Given the description of an element on the screen output the (x, y) to click on. 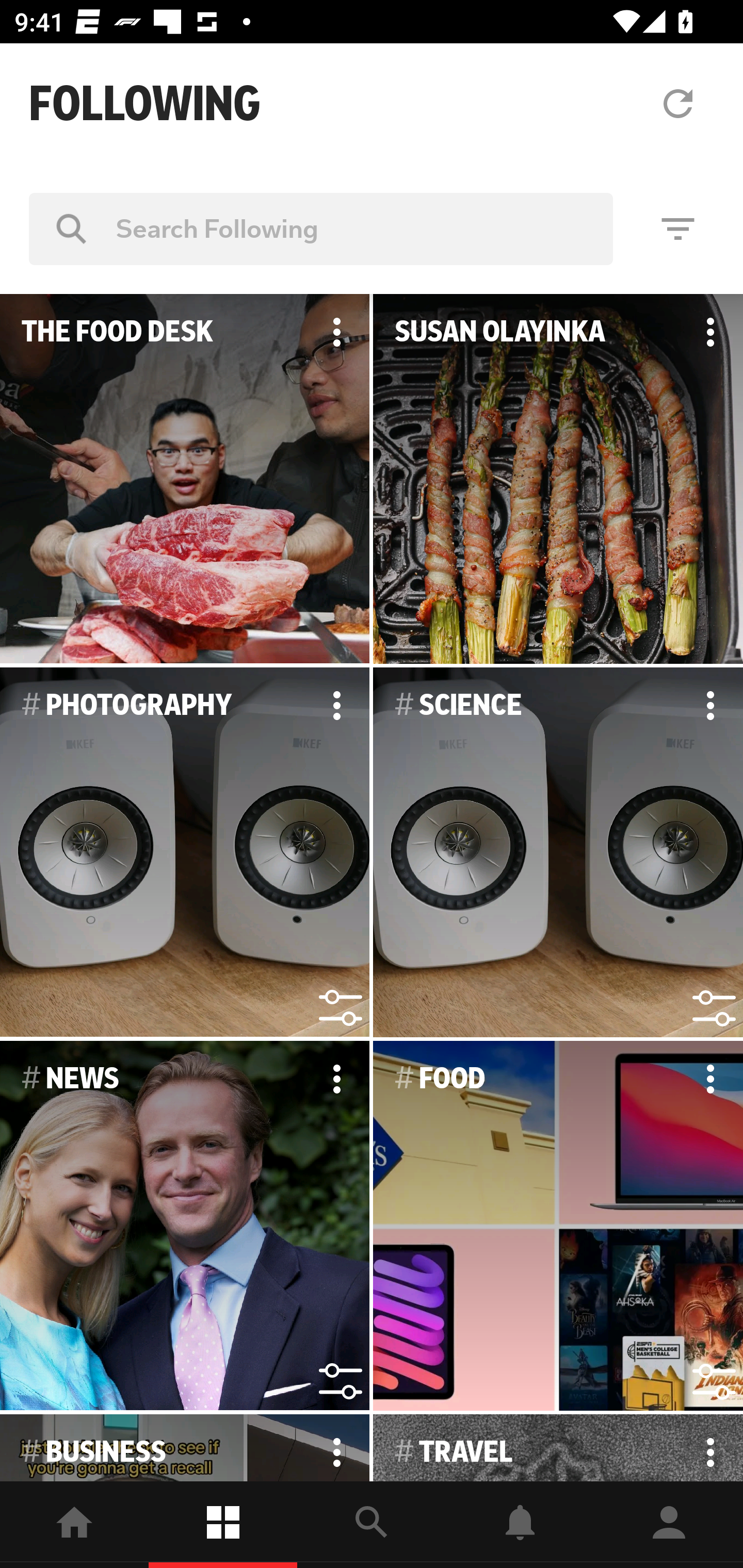
Search Following (320, 228)
THE FOOD DESK Options (184, 478)
Options (336, 332)
SUSAN OLAYINKA Options (557, 478)
Options (710, 332)
# PHOTOGRAPHY Options (184, 852)
Options (336, 705)
# SCIENCE Options (557, 852)
Options (710, 705)
# NEWS Options (184, 1226)
Options (336, 1078)
# FOOD Options (557, 1226)
Options (710, 1078)
Options (336, 1447)
Options (710, 1447)
home (74, 1524)
Following (222, 1524)
explore (371, 1524)
Notifications (519, 1524)
Profile (668, 1524)
